Given the description of an element on the screen output the (x, y) to click on. 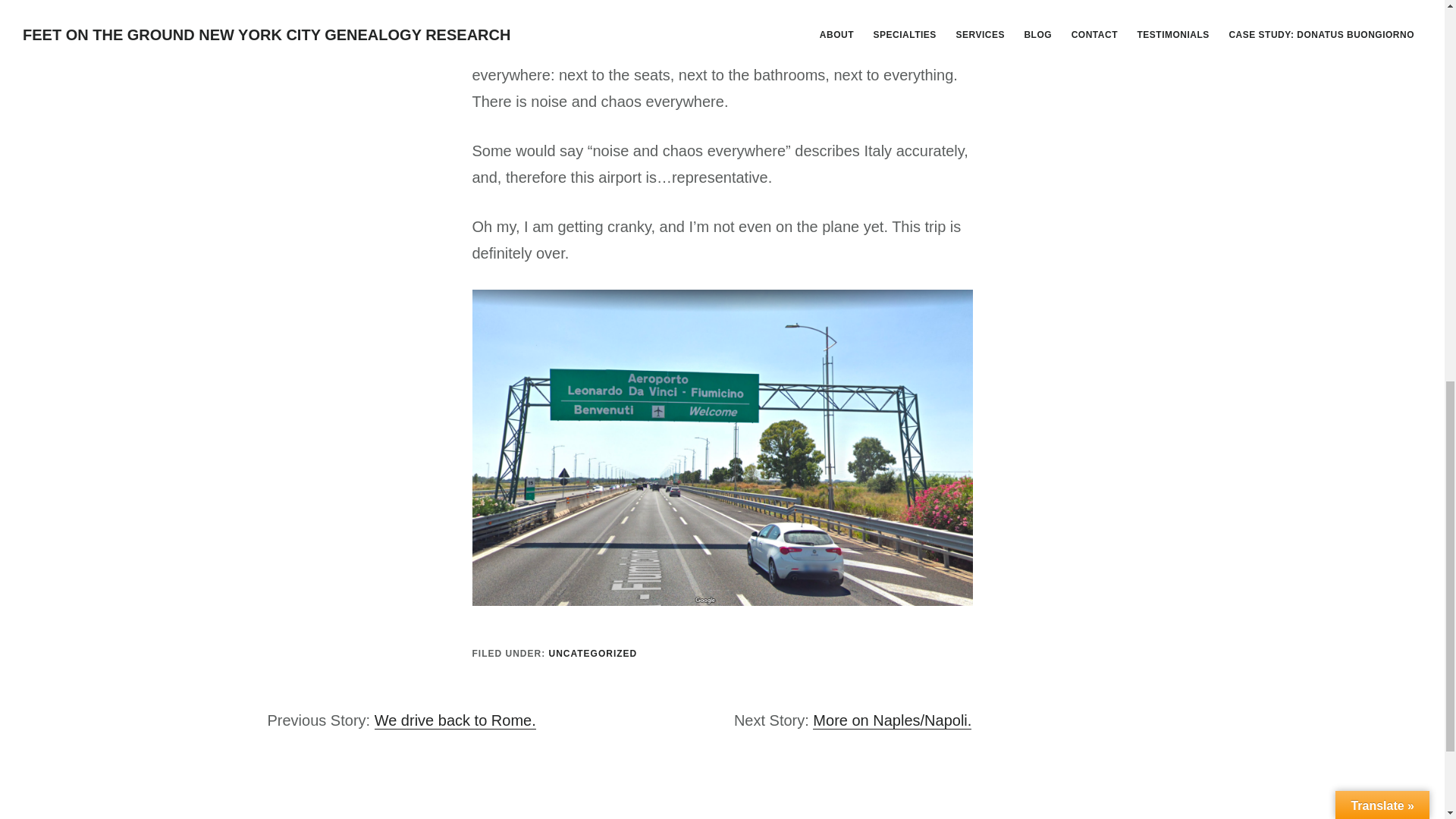
We drive back to Rome. (454, 720)
UNCATEGORIZED (592, 653)
